Given the description of an element on the screen output the (x, y) to click on. 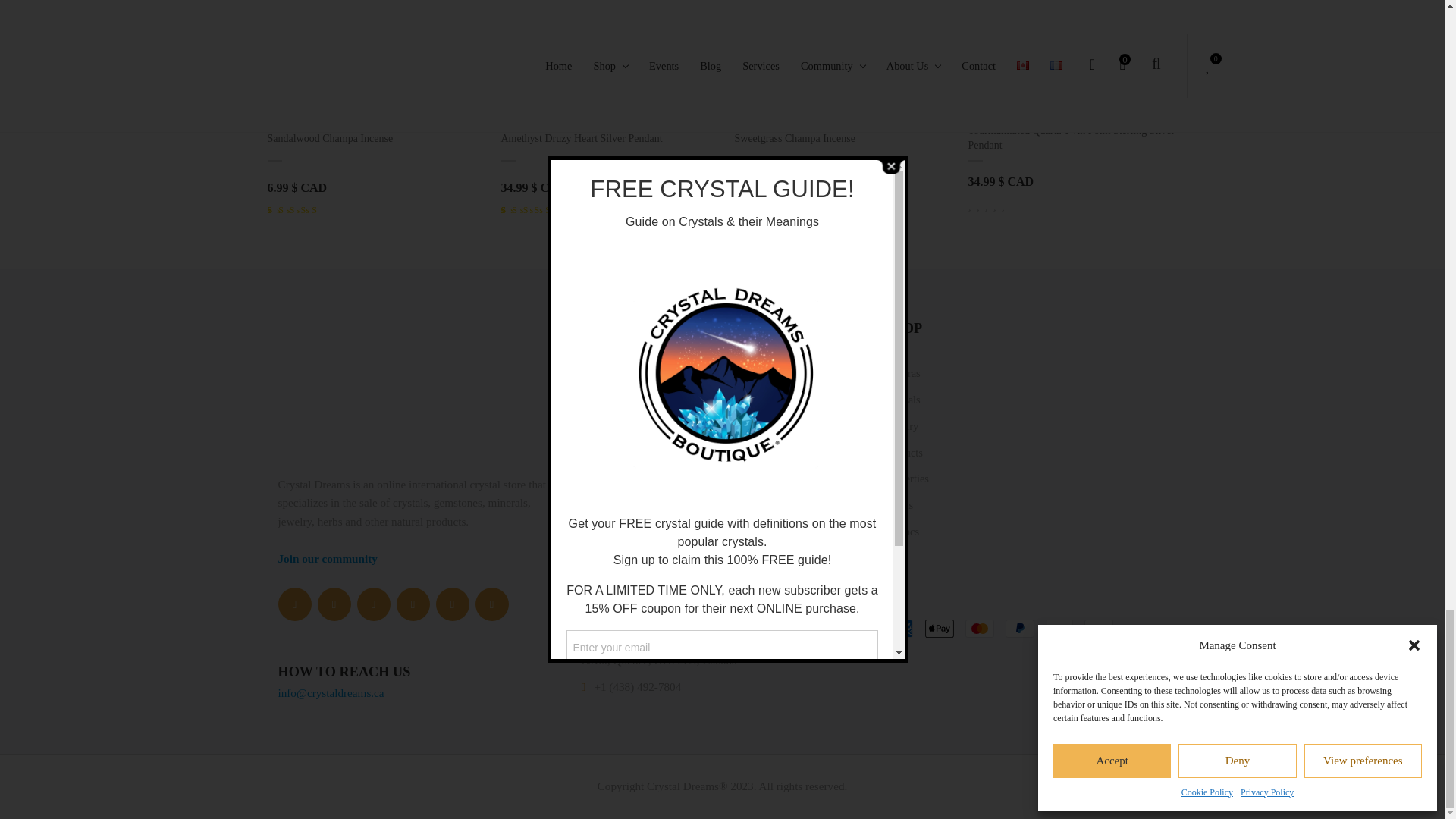
Mastercard (979, 628)
Visa (1098, 628)
PayPal (1019, 628)
American Express (897, 628)
Apple Pay (938, 628)
